Given the description of an element on the screen output the (x, y) to click on. 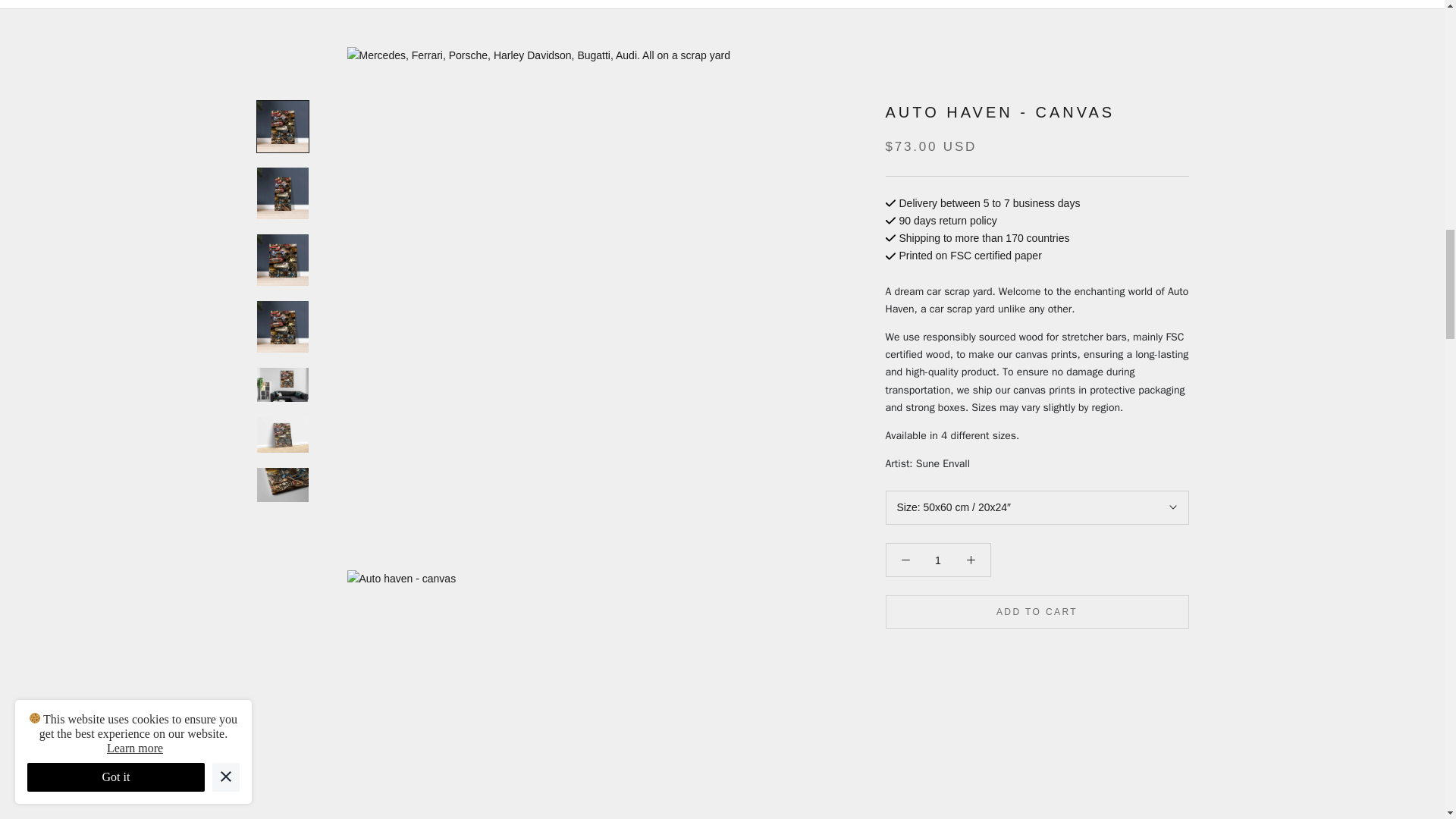
1 (938, 507)
